Given the description of an element on the screen output the (x, y) to click on. 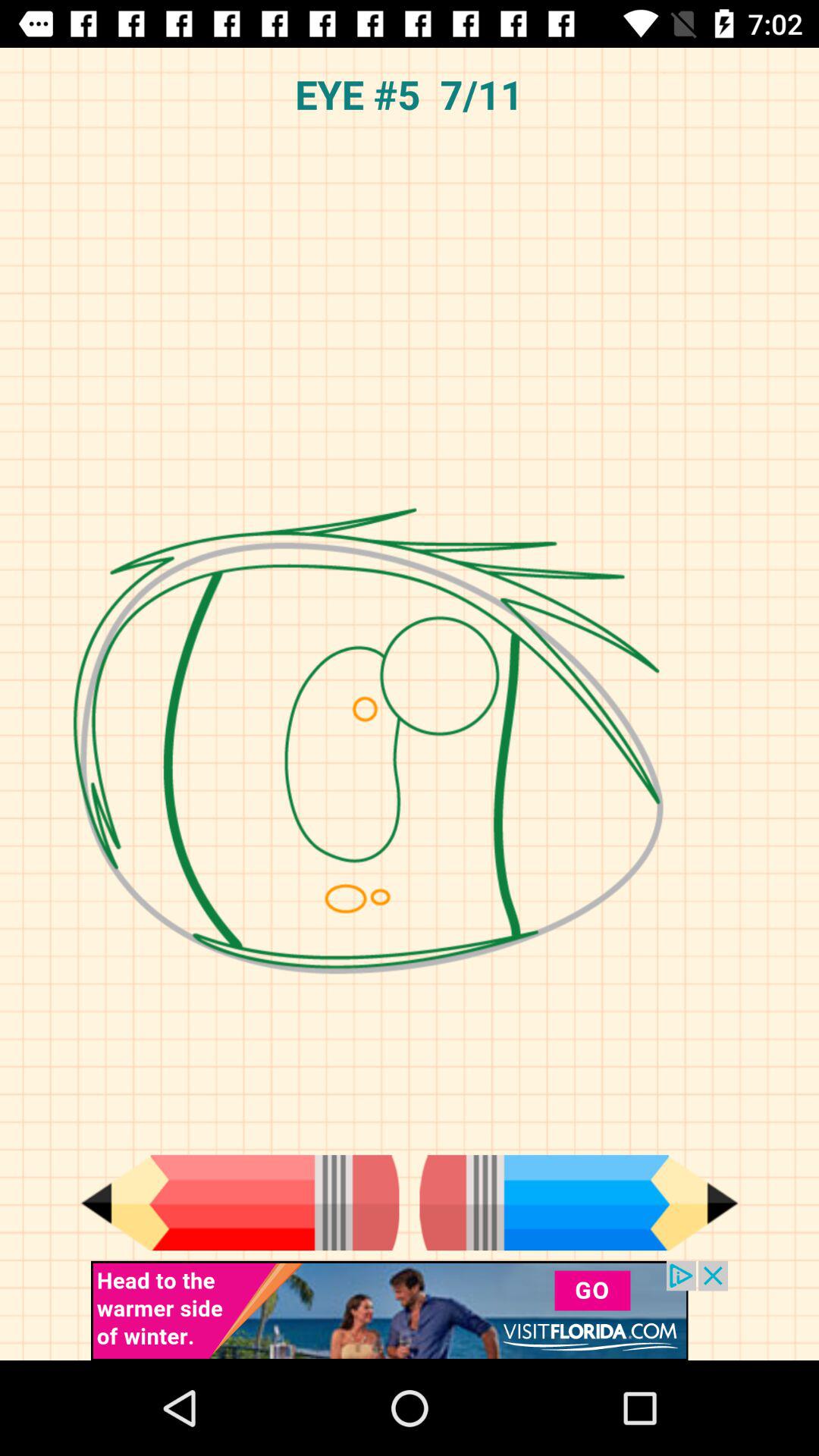
color print (239, 1202)
